Given the description of an element on the screen output the (x, y) to click on. 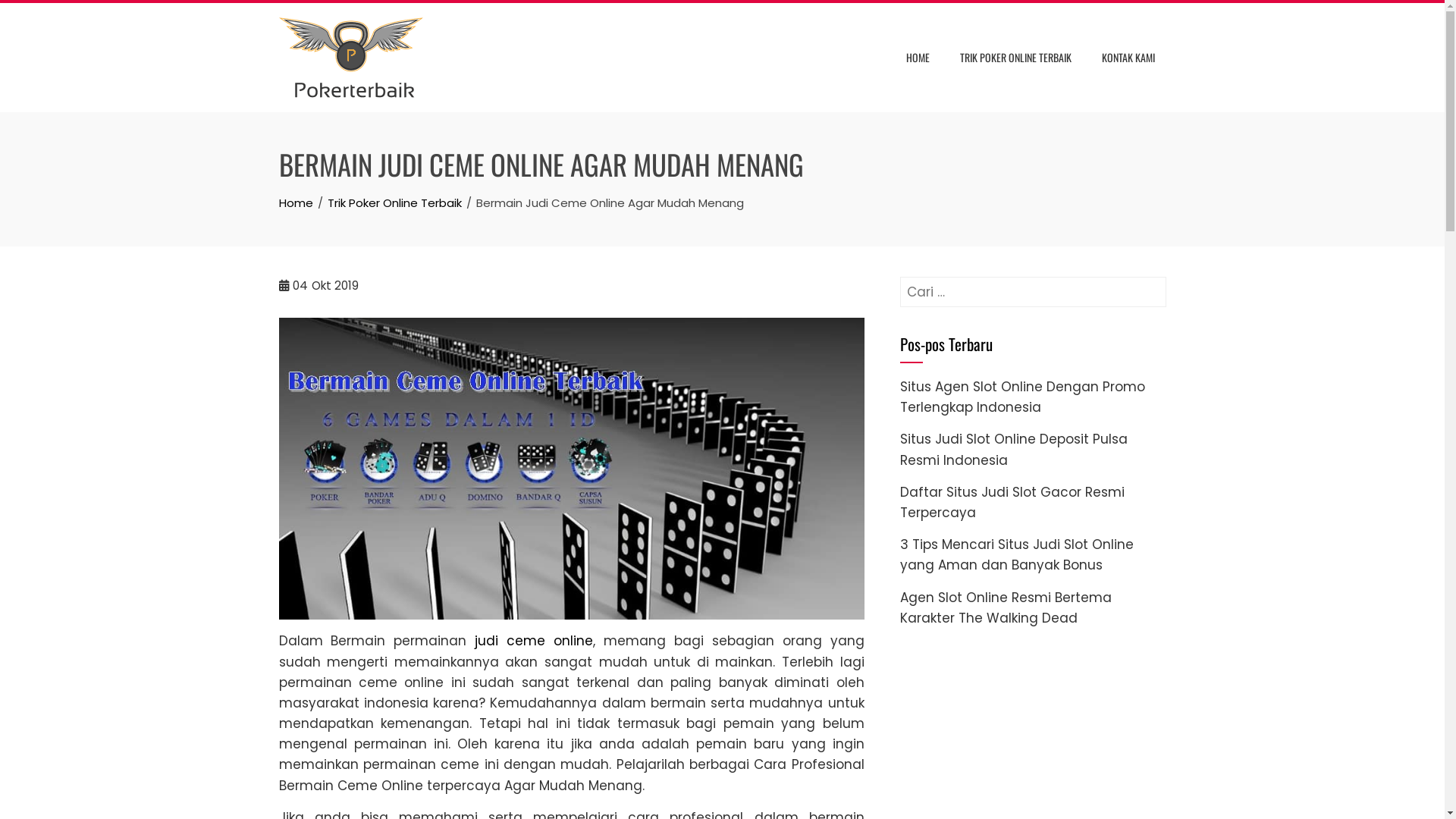
Trik Poker Online Terbaik Element type: text (394, 202)
KONTAK KAMI Element type: text (1128, 57)
Daftar Situs Judi Slot Gacor Resmi Terpercaya Element type: text (1011, 502)
TRIK POKER ONLINE TERBAIK Element type: text (1014, 57)
Cari Element type: text (28, 15)
Situs Judi Slot Online Deposit Pulsa Resmi Indonesia Element type: text (1012, 448)
Home Element type: text (296, 202)
Situs Agen Slot Online Dengan Promo Terlengkap Indonesia Element type: text (1021, 396)
Agen Slot Online Resmi Bertema Karakter The Walking Dead Element type: text (1004, 607)
HOME Element type: text (917, 57)
judi ceme online Element type: text (533, 640)
